Given the description of an element on the screen output the (x, y) to click on. 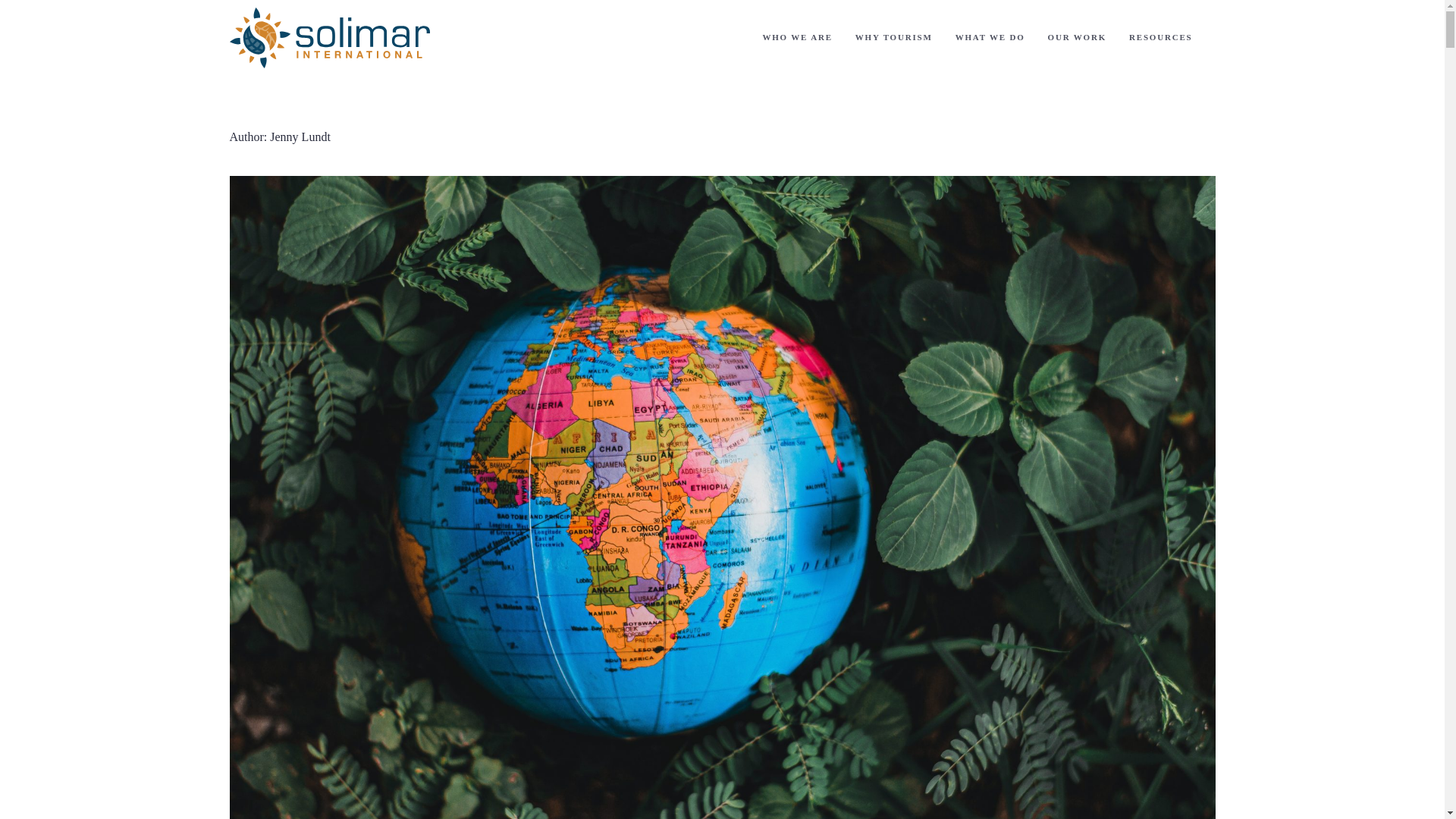
WHO WE ARE (797, 37)
WHY TOURISM (893, 37)
WHAT WE DO (989, 37)
